Given the description of an element on the screen output the (x, y) to click on. 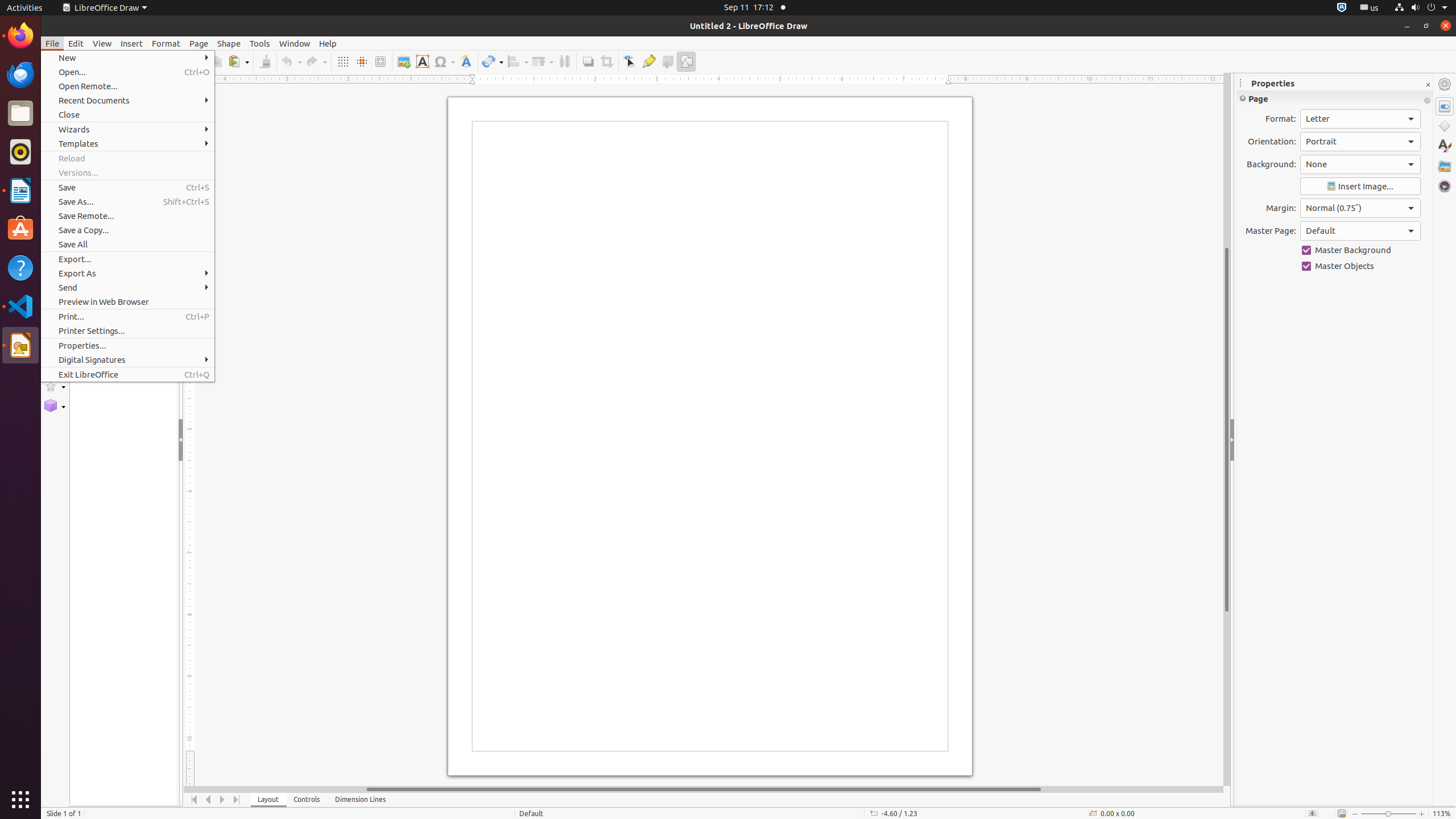
Insert Image Element type: push-button (1360, 186)
Recent Documents Element type: menu (127, 100)
Styles Element type: radio-button (1444, 146)
Undo Element type: push-button (290, 61)
Paste Element type: push-button (237, 61)
